Given the description of an element on the screen output the (x, y) to click on. 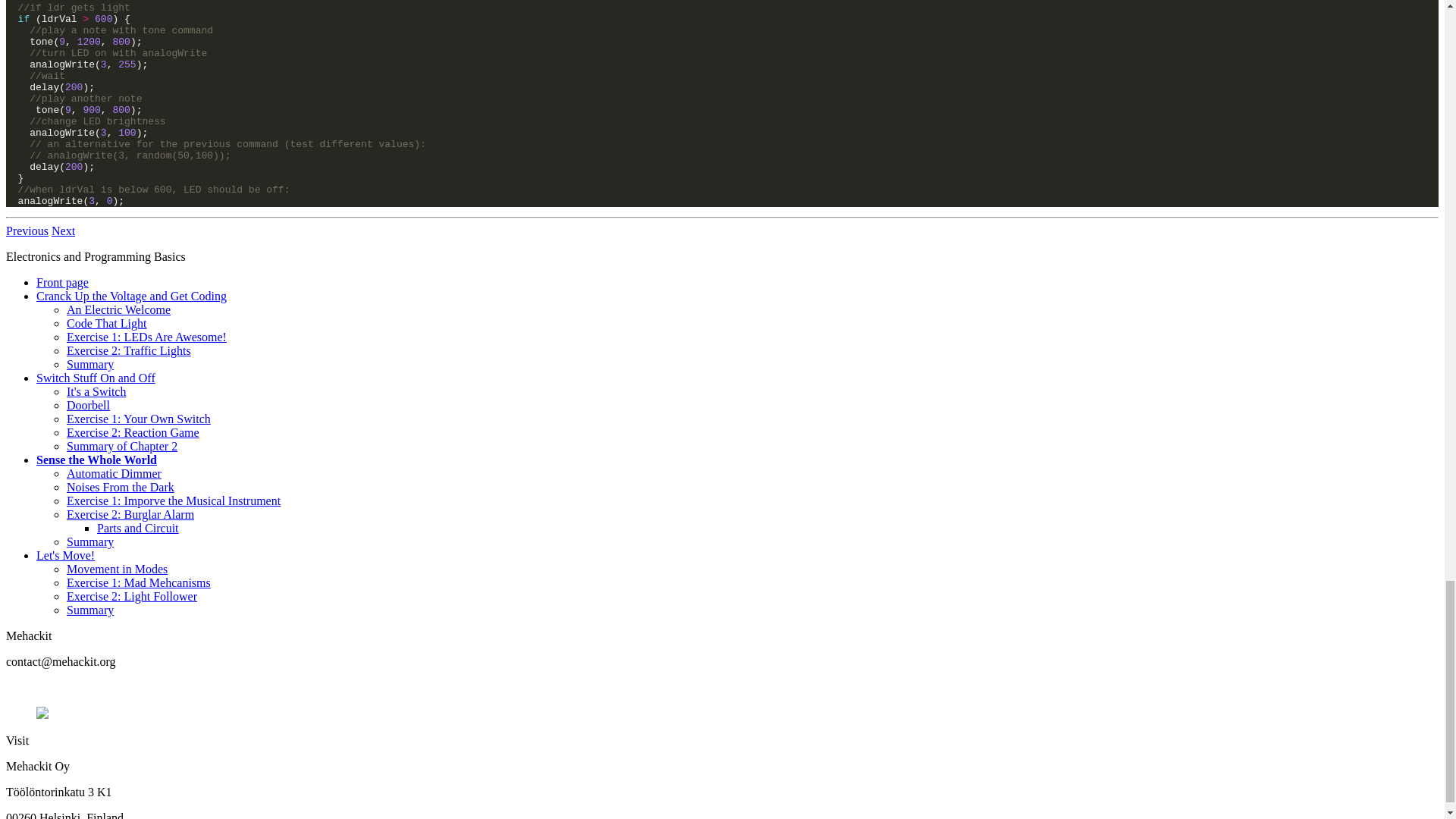
Previous (26, 230)
